Given the description of an element on the screen output the (x, y) to click on. 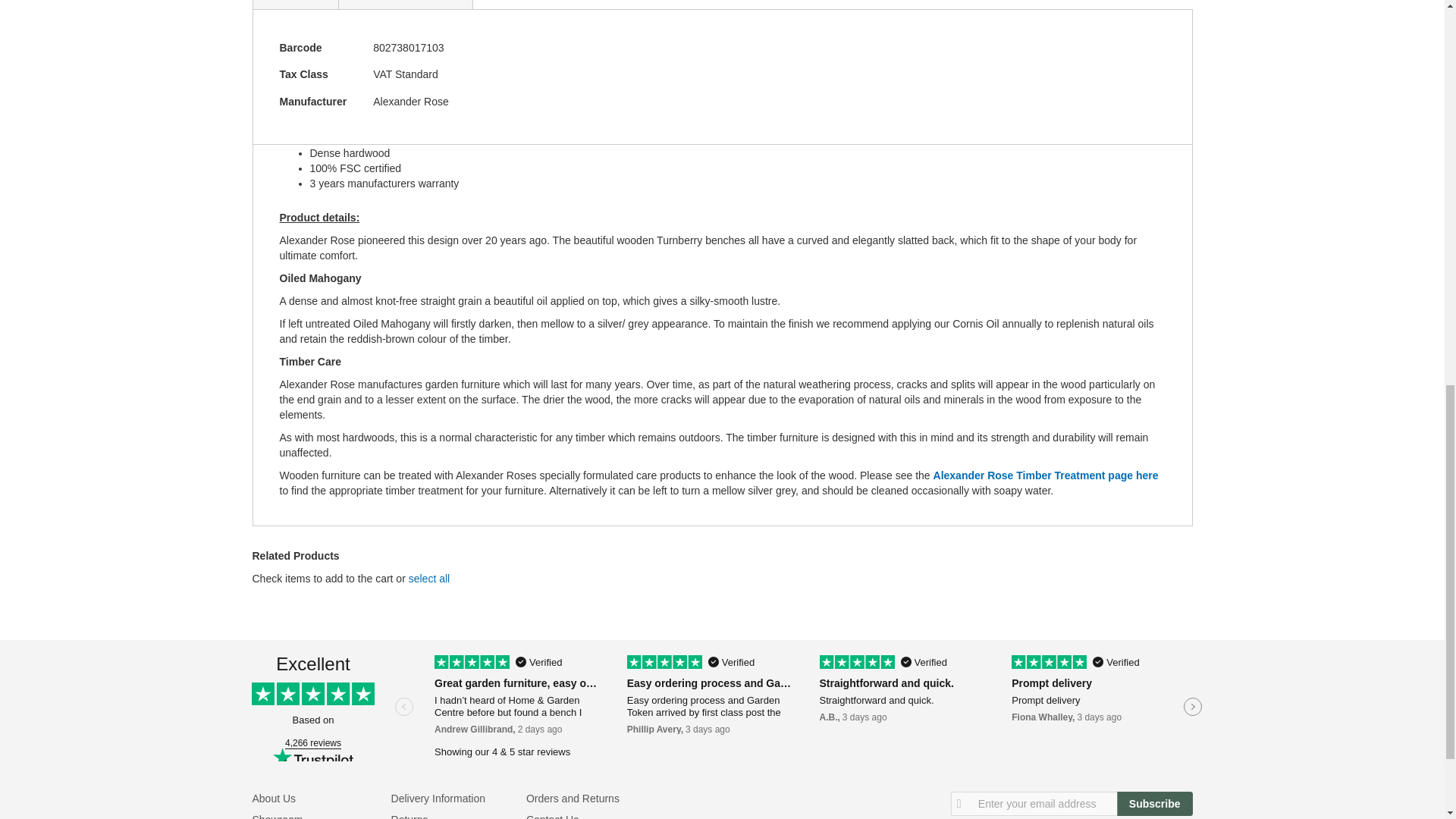
Customer reviews powered by Trustpilot (721, 708)
Subscribe (1154, 803)
